Given the description of an element on the screen output the (x, y) to click on. 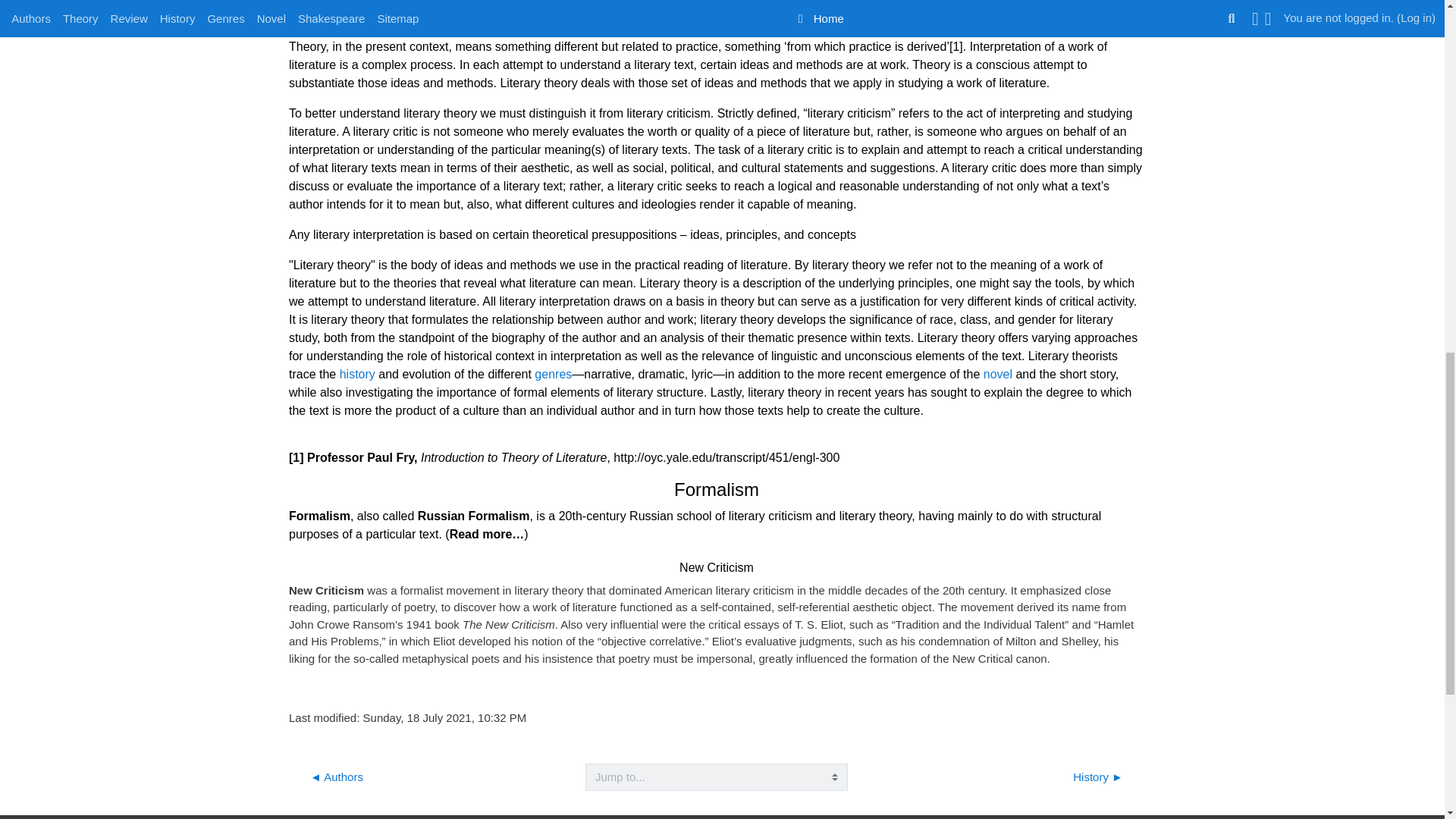
Genres (553, 373)
Novel (997, 373)
History (357, 373)
Formalism (486, 533)
